Given the description of an element on the screen output the (x, y) to click on. 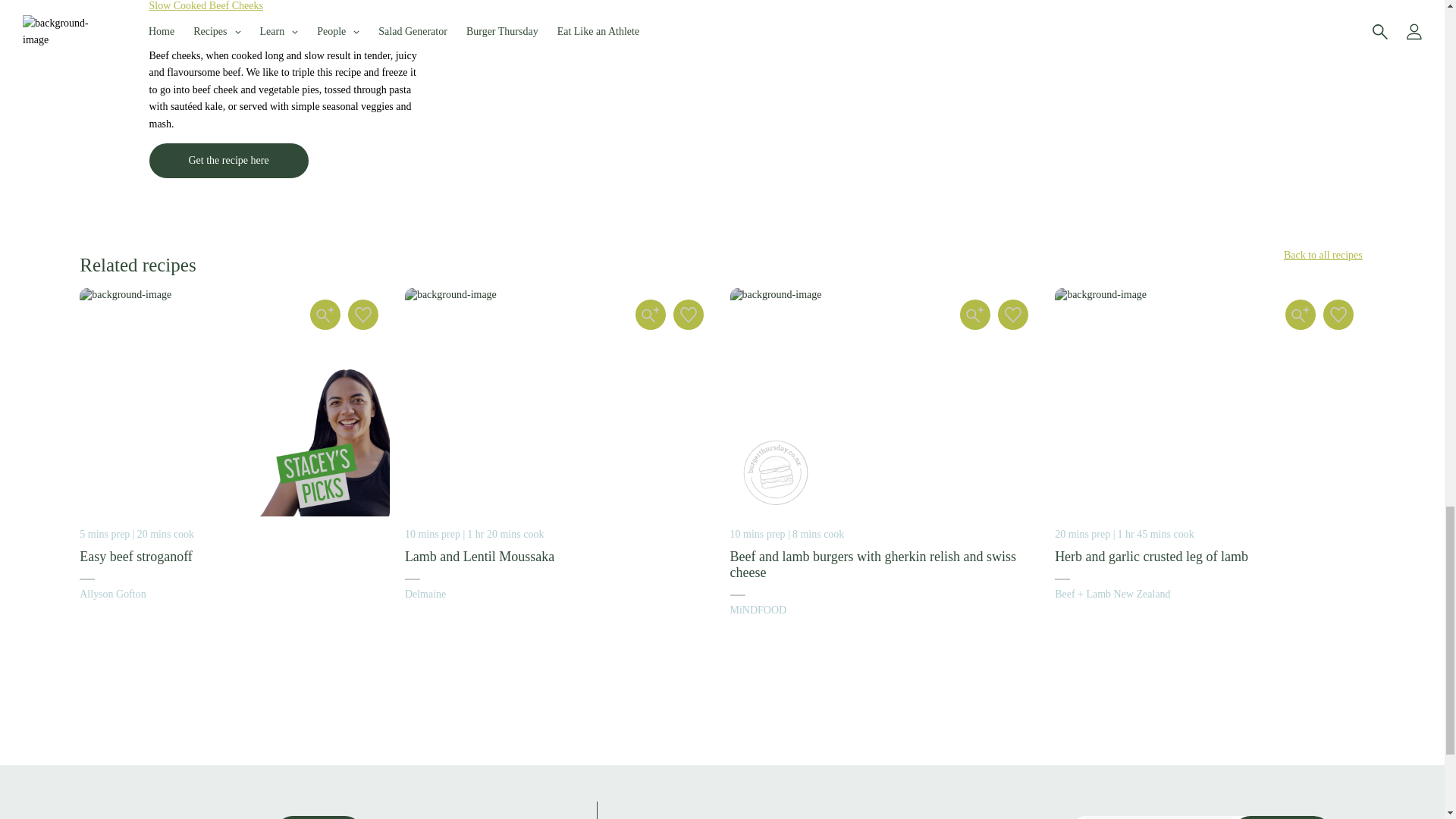
Get the recipe here (227, 160)
Slow Cooked Beef Cheeks (205, 5)
Get the recipe here (227, 160)
